Given the description of an element on the screen output the (x, y) to click on. 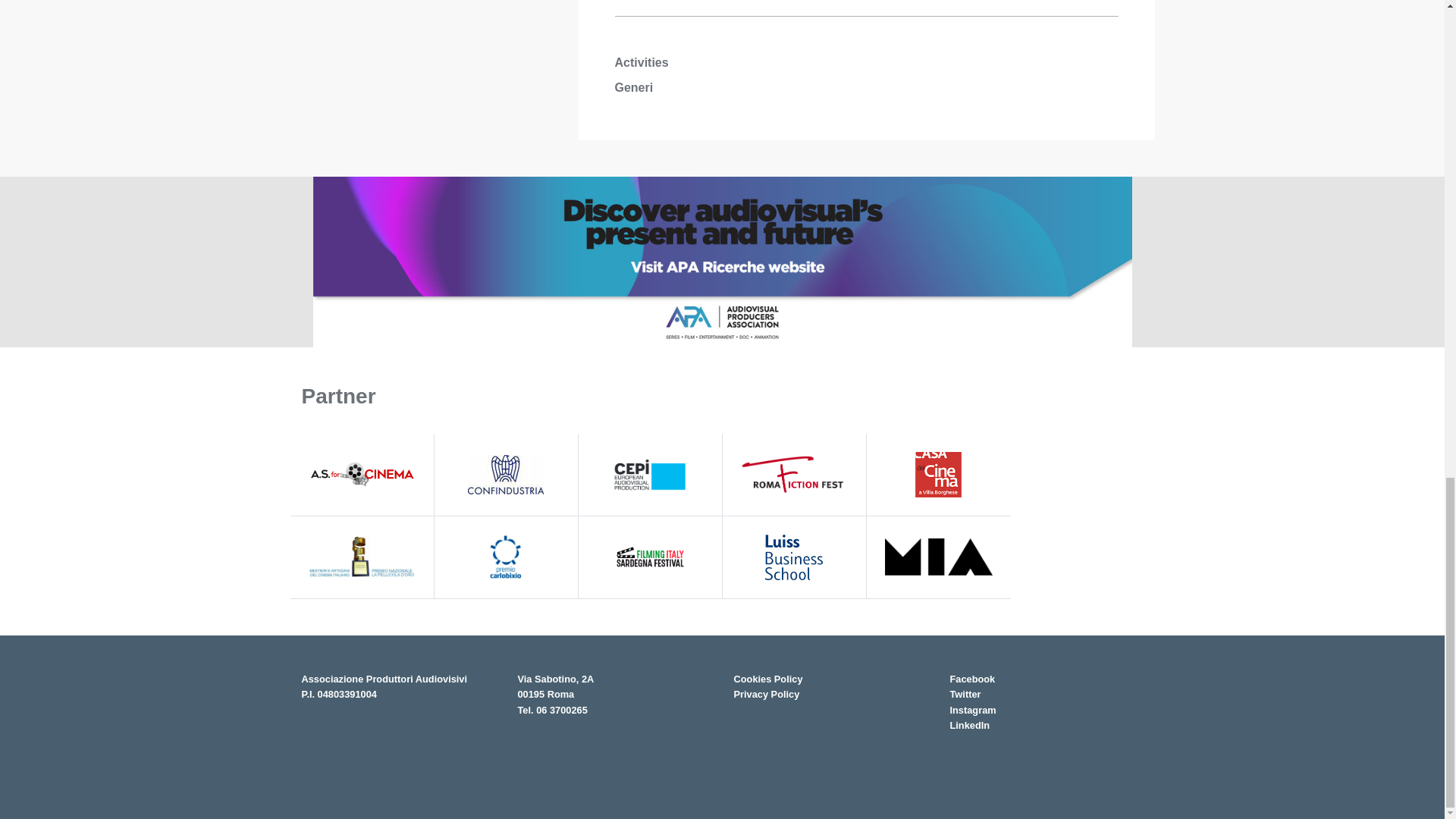
link a pagina facebook APA (971, 678)
Facebook (971, 678)
link ad account LinkedIn (972, 709)
Privacy Policy (766, 694)
permalink to International Activities (722, 260)
link ad account twitter (964, 694)
Privacy Policy (766, 694)
Cookies Polic (768, 678)
Twitter (964, 694)
Cookies Policy (768, 678)
